Given the description of an element on the screen output the (x, y) to click on. 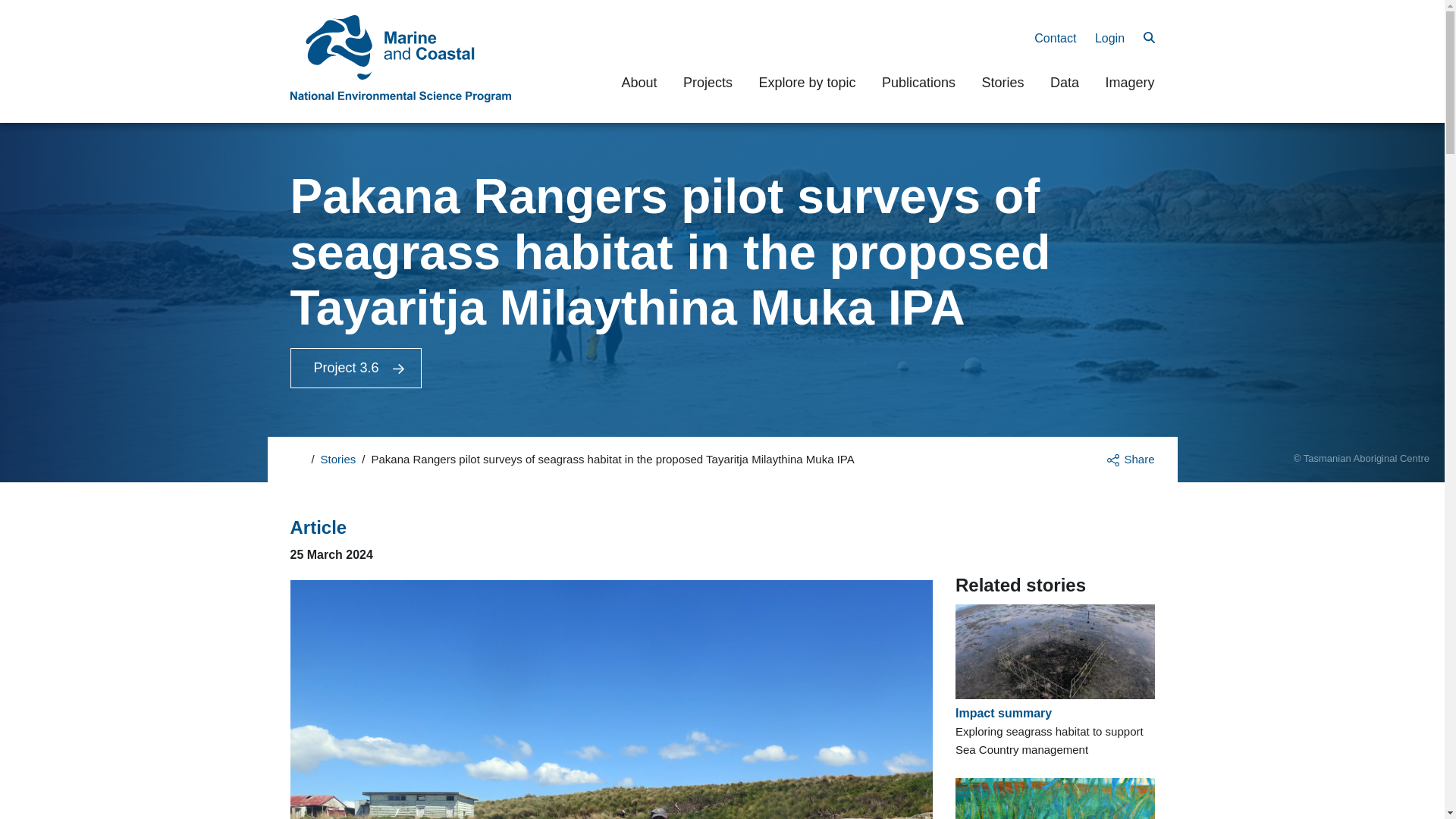
Contact (1054, 38)
About (638, 82)
Data (1063, 82)
Imagery (1129, 82)
Explore by topic (807, 82)
Project 3.6 (354, 368)
Projects (707, 82)
Stories (1002, 82)
Login (1109, 38)
Publications (918, 82)
Stories (338, 459)
